Given the description of an element on the screen output the (x, y) to click on. 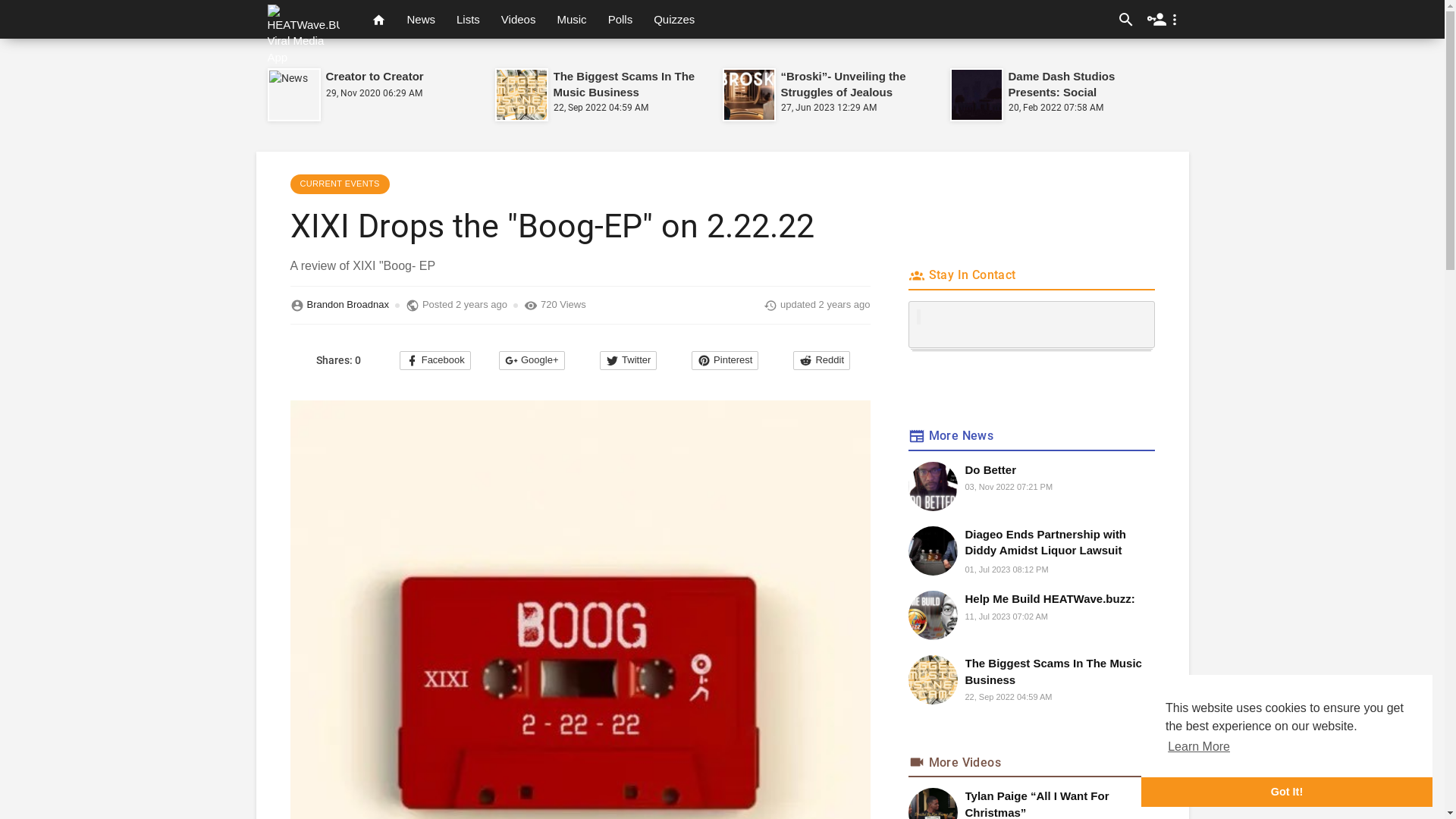
The Biggest Scams In The Music Business Element type: text (1059, 671)
Quizzes Element type: text (674, 19)
Twitter Element type: text (627, 360)
Help Me Build HEATWave.buzz: Element type: text (1059, 598)
Got It! Element type: text (1286, 791)
Google+ Element type: text (531, 360)
Facebook Element type: text (434, 360)
Creator to Creator Element type: text (374, 75)
Lists Element type: text (467, 19)
Music Element type: text (571, 19)
Brandon Broadnax Element type: text (347, 305)
Videos Element type: text (518, 19)
Reddit Element type: text (821, 360)
Dame Dash Studios Presents: Social Disturbance Element type: text (1061, 92)
Pinterest Element type: text (724, 360)
Do Better Element type: text (1059, 469)
Learn More Element type: text (1198, 746)
The Biggest Scams In The Music Business Element type: text (624, 83)
Polls Element type: text (620, 19)
CURRENT EVENTS Element type: text (339, 184)
News Element type: text (420, 19)
Home Element type: hover (378, 19)
